Given the description of an element on the screen output the (x, y) to click on. 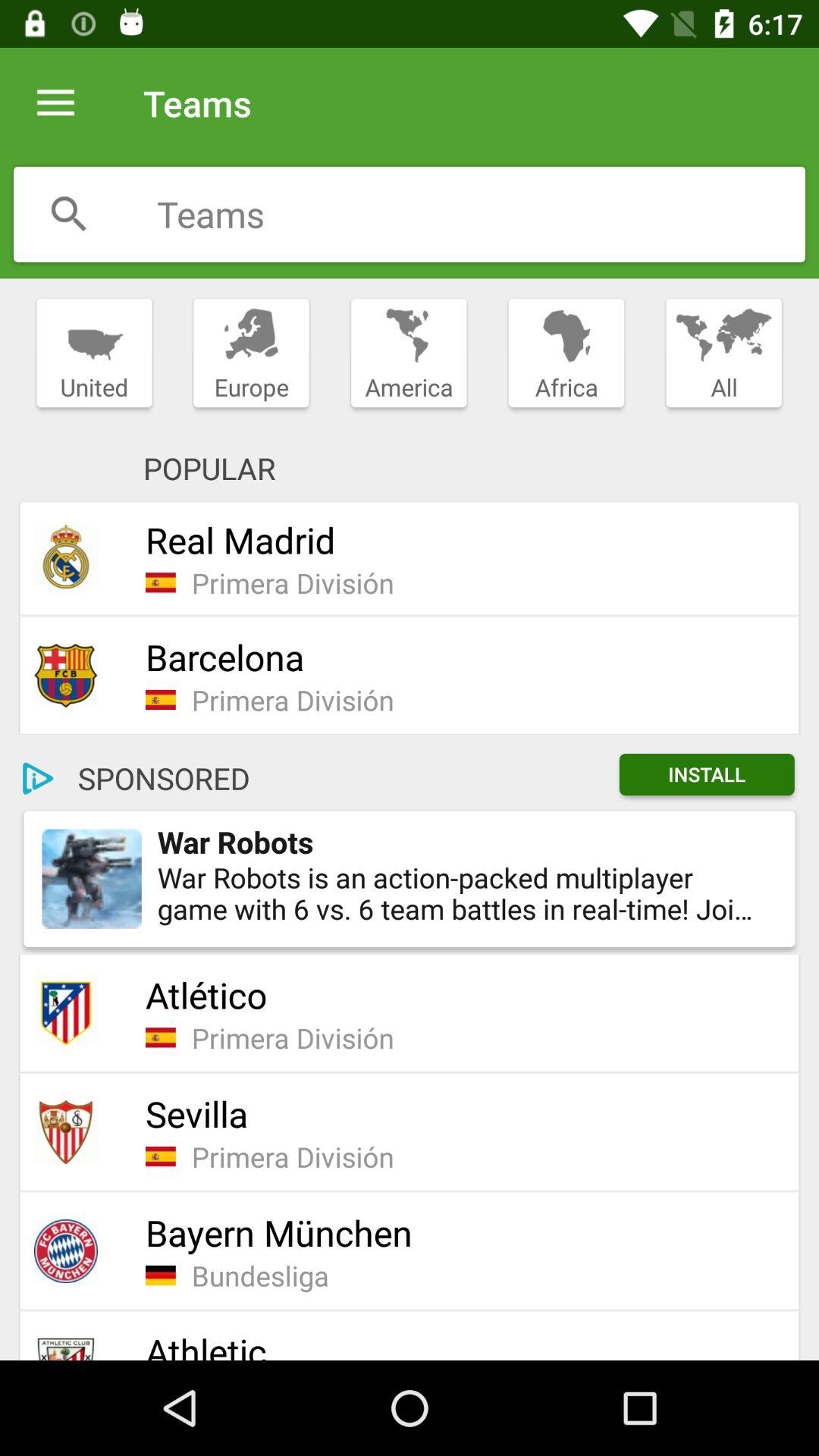
launch the item next to america (565, 353)
